Given the description of an element on the screen output the (x, y) to click on. 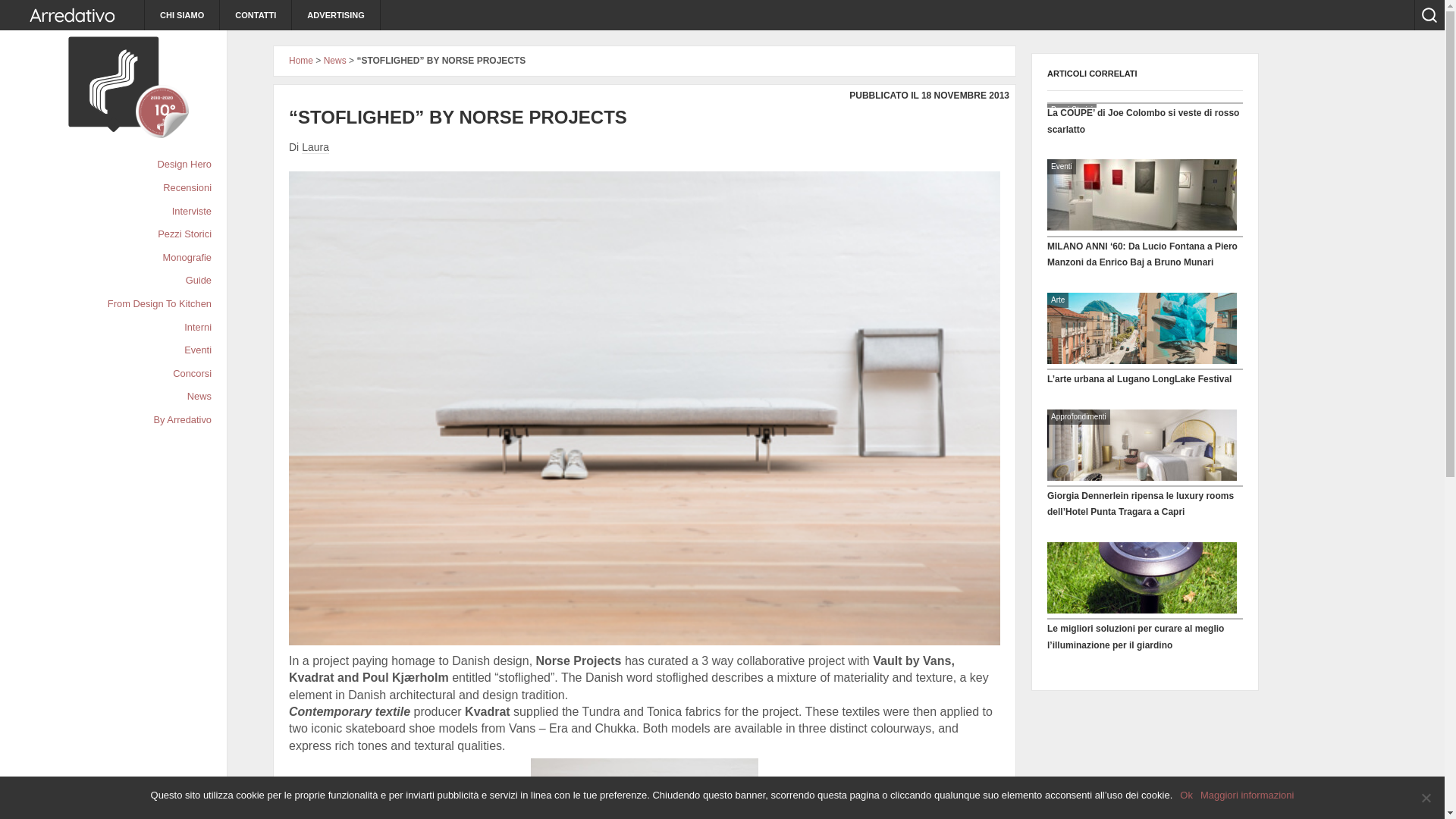
Laura (315, 146)
Design Hero (186, 164)
News (334, 60)
News (201, 396)
Interni (200, 327)
Pezzi Storici (187, 234)
Articoli scritti da Laura (315, 146)
Monografie (189, 258)
Cerca (1425, 12)
Concorsi (194, 373)
From Design To Kitchen (161, 304)
Arredativo Design Magazine (72, 15)
Guide (200, 280)
Eventi (200, 350)
CONTATTI (255, 15)
